Given the description of an element on the screen output the (x, y) to click on. 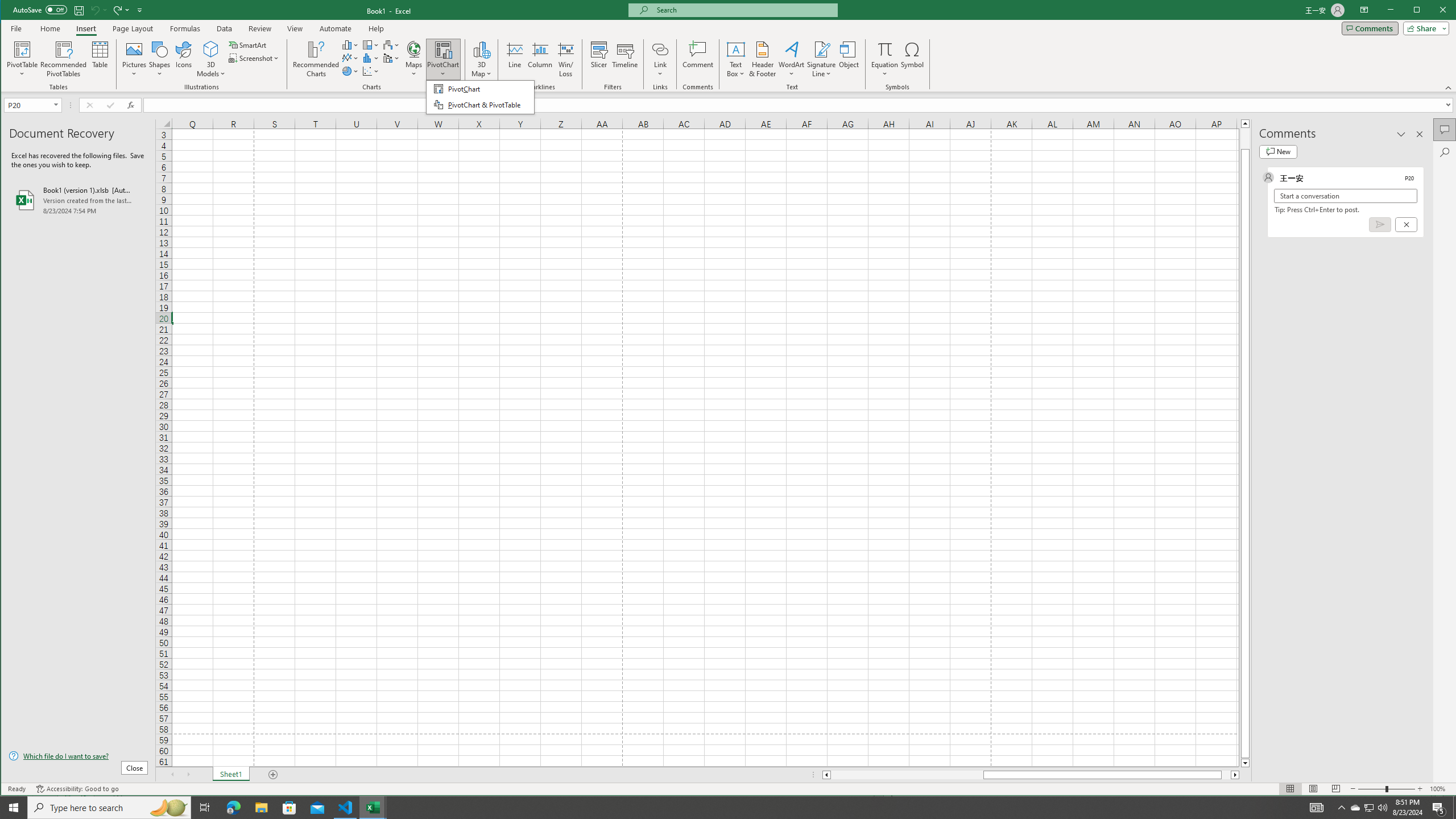
Maximize (1432, 11)
Screenshot (254, 57)
Search highlights icon opens search home window (167, 807)
PivotTable (22, 59)
AutomationID: 4105 (1316, 807)
Action Center, 5 new notifications (1439, 807)
Recommended Charts (315, 59)
